Given the description of an element on the screen output the (x, y) to click on. 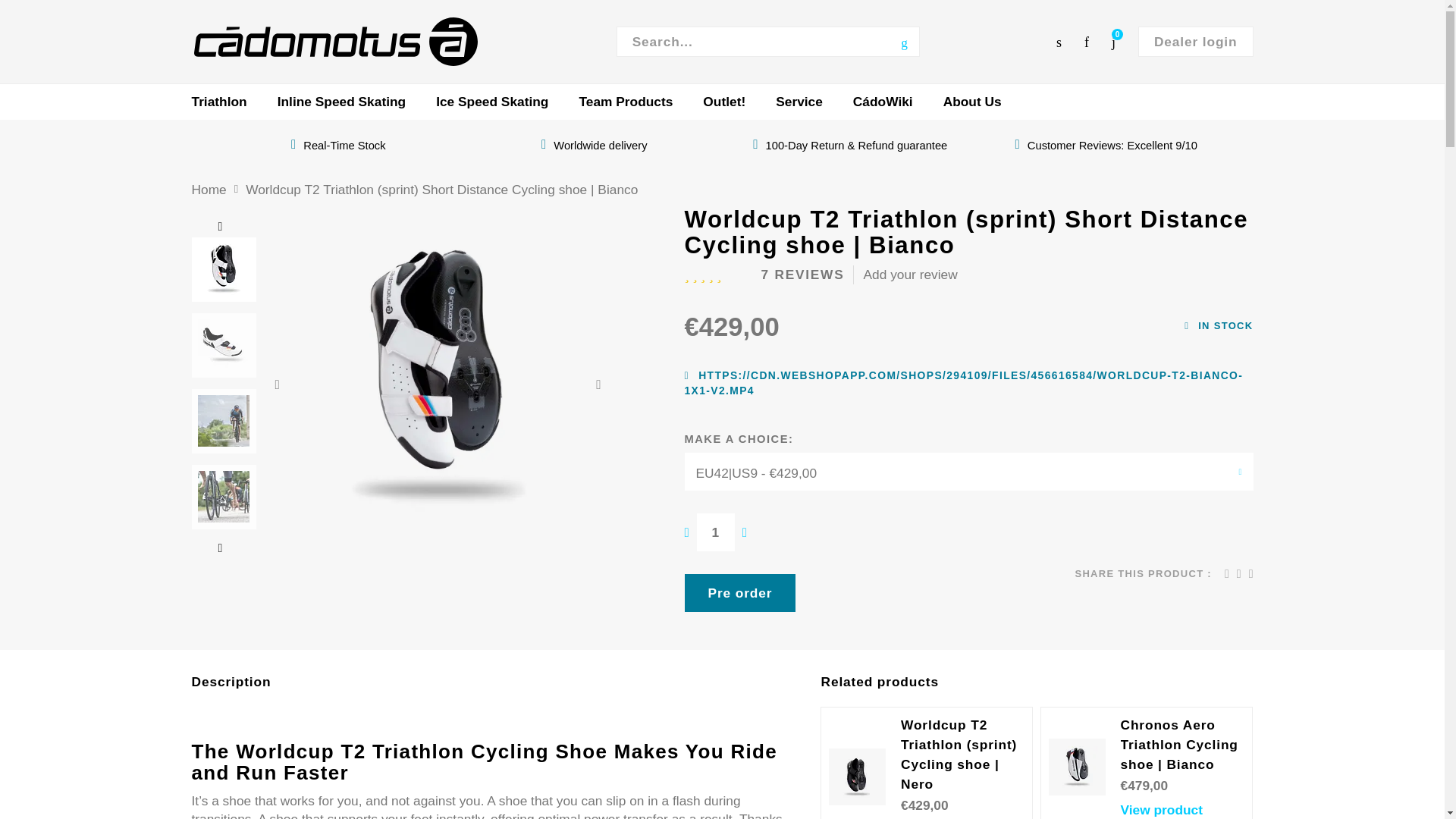
Home (207, 189)
1 (716, 532)
Cart (1113, 41)
Search (904, 41)
